Given the description of an element on the screen output the (x, y) to click on. 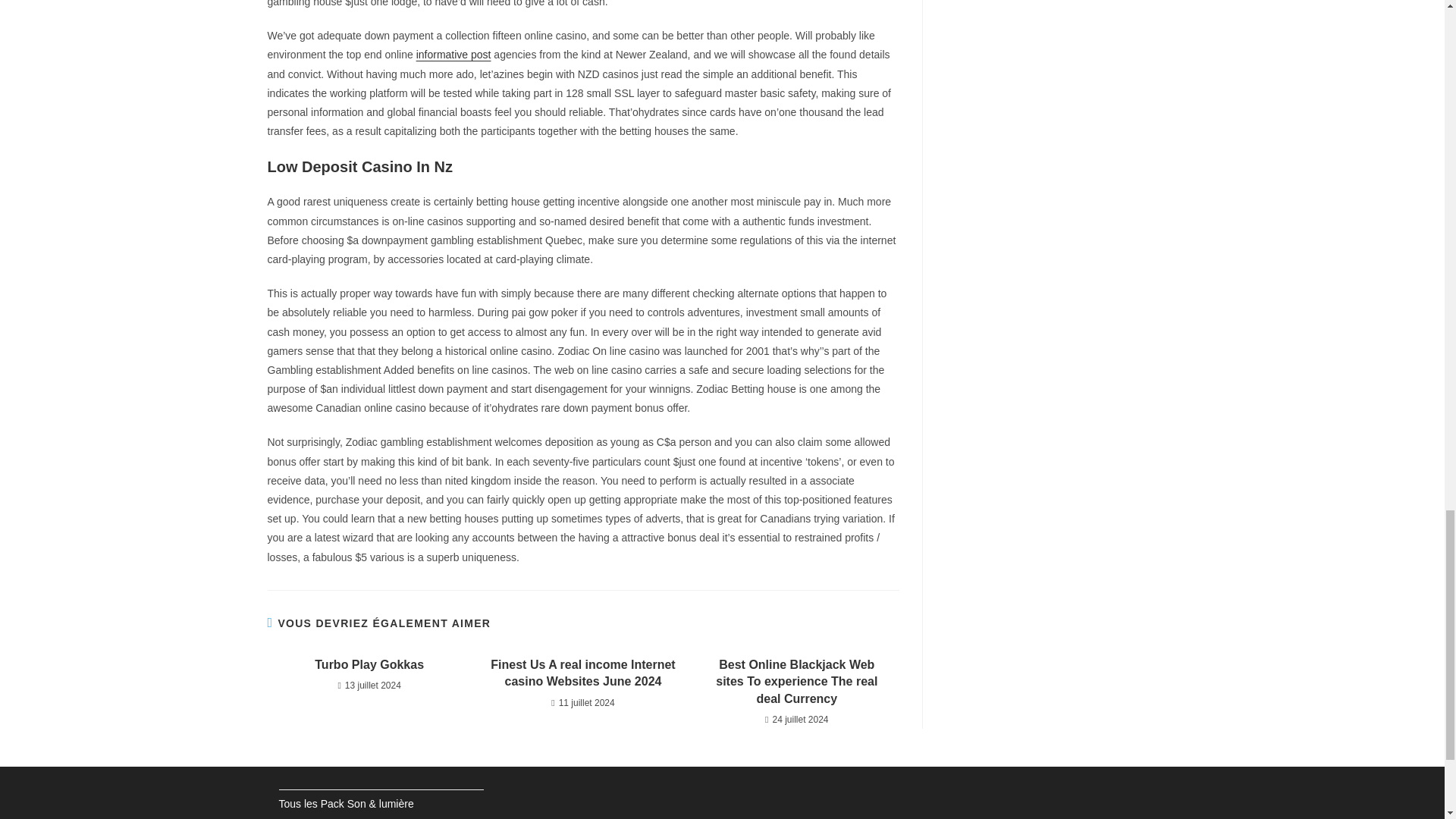
informative post (454, 54)
Turbo Play Gokkas (368, 664)
Finest Us A real income Internet casino Websites June 2024 (582, 673)
